Given the description of an element on the screen output the (x, y) to click on. 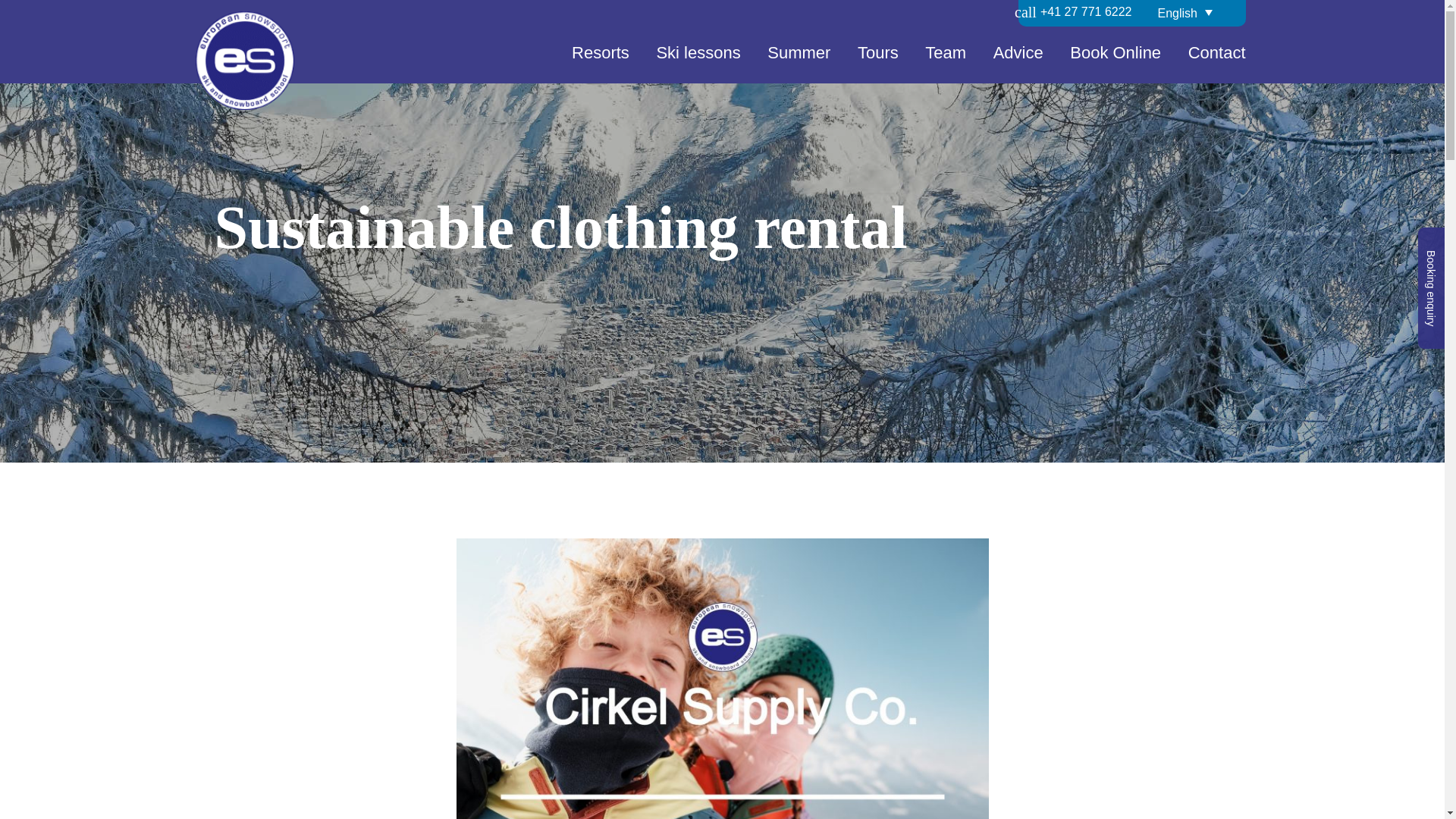
Ski lessons (698, 58)
English (1195, 12)
Team (945, 58)
Resorts (600, 58)
Tours (877, 58)
Summer (798, 58)
